Given the description of an element on the screen output the (x, y) to click on. 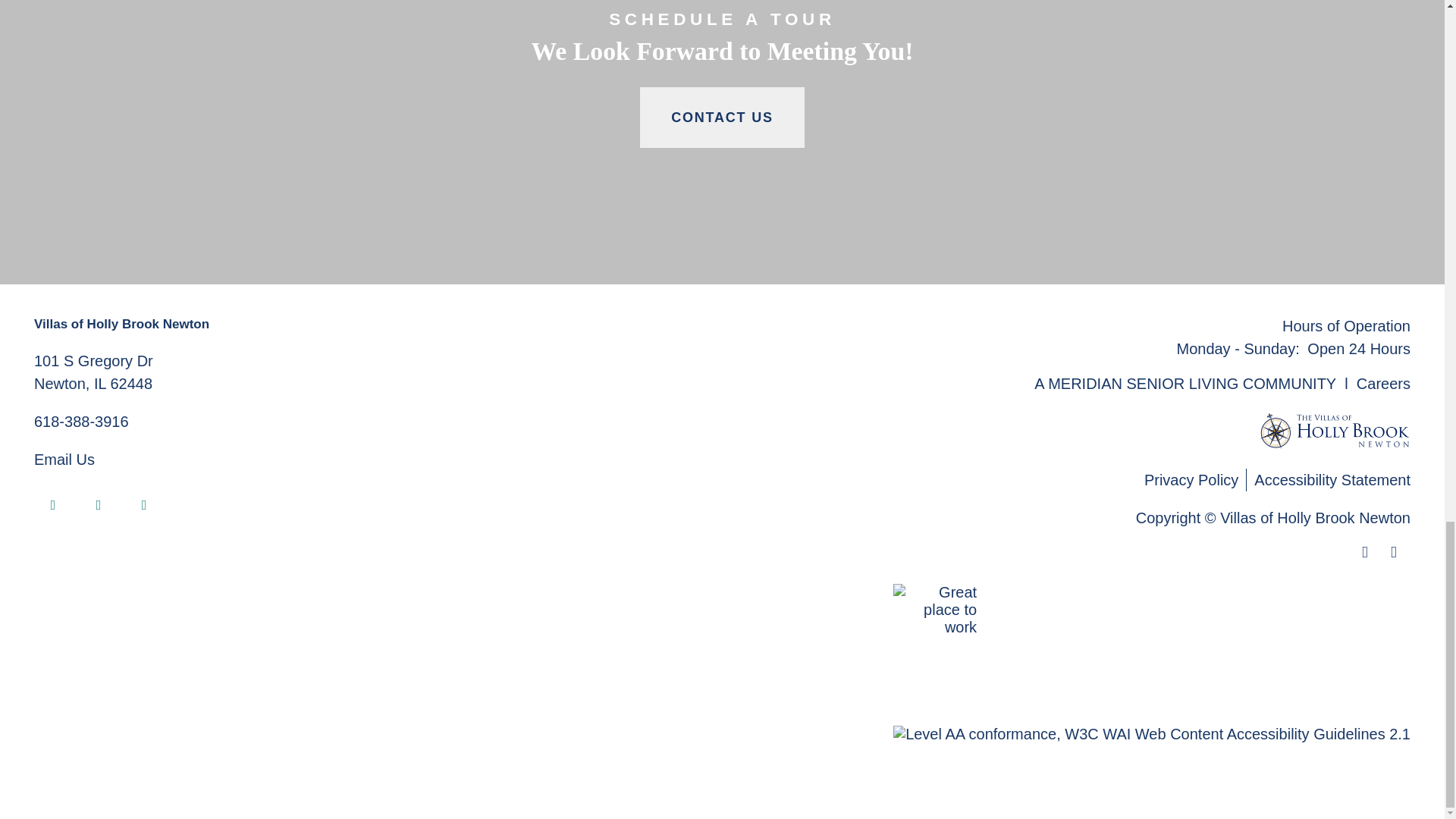
CONTACT US (722, 117)
Careers (1383, 384)
Privacy Policy (1195, 479)
Email Us (92, 371)
Yelp (63, 458)
A MERIDIAN SENIOR LIVING COMMUNITY (98, 505)
Facebook (1184, 384)
Property Phone Number (52, 505)
Google My Business (81, 422)
618-388-3916 (144, 505)
